Given the description of an element on the screen output the (x, y) to click on. 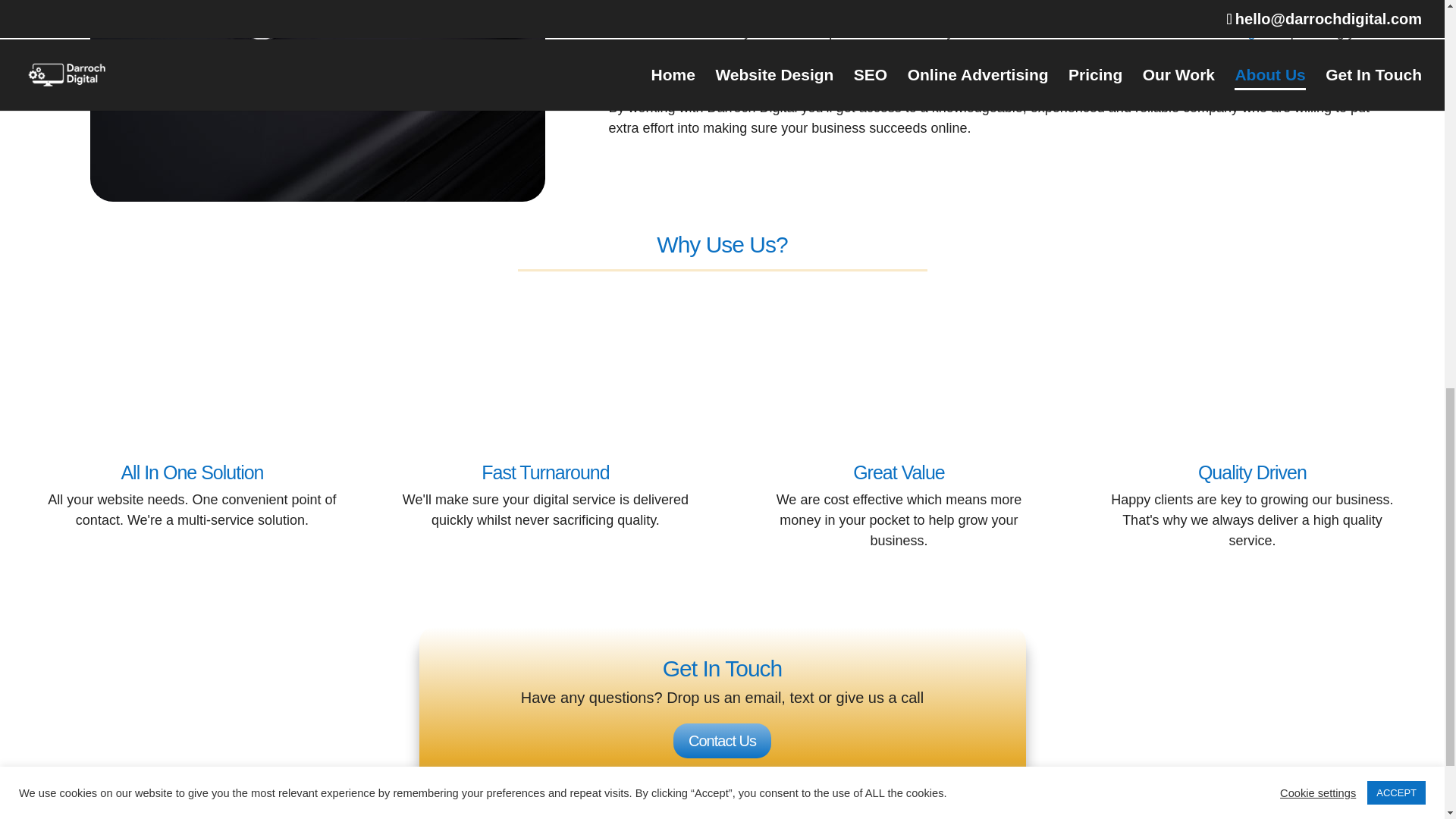
About-Us-v4 (317, 100)
online advertising (829, 52)
SEO (692, 52)
Contact Us (721, 740)
website design (1218, 31)
